Given the description of an element on the screen output the (x, y) to click on. 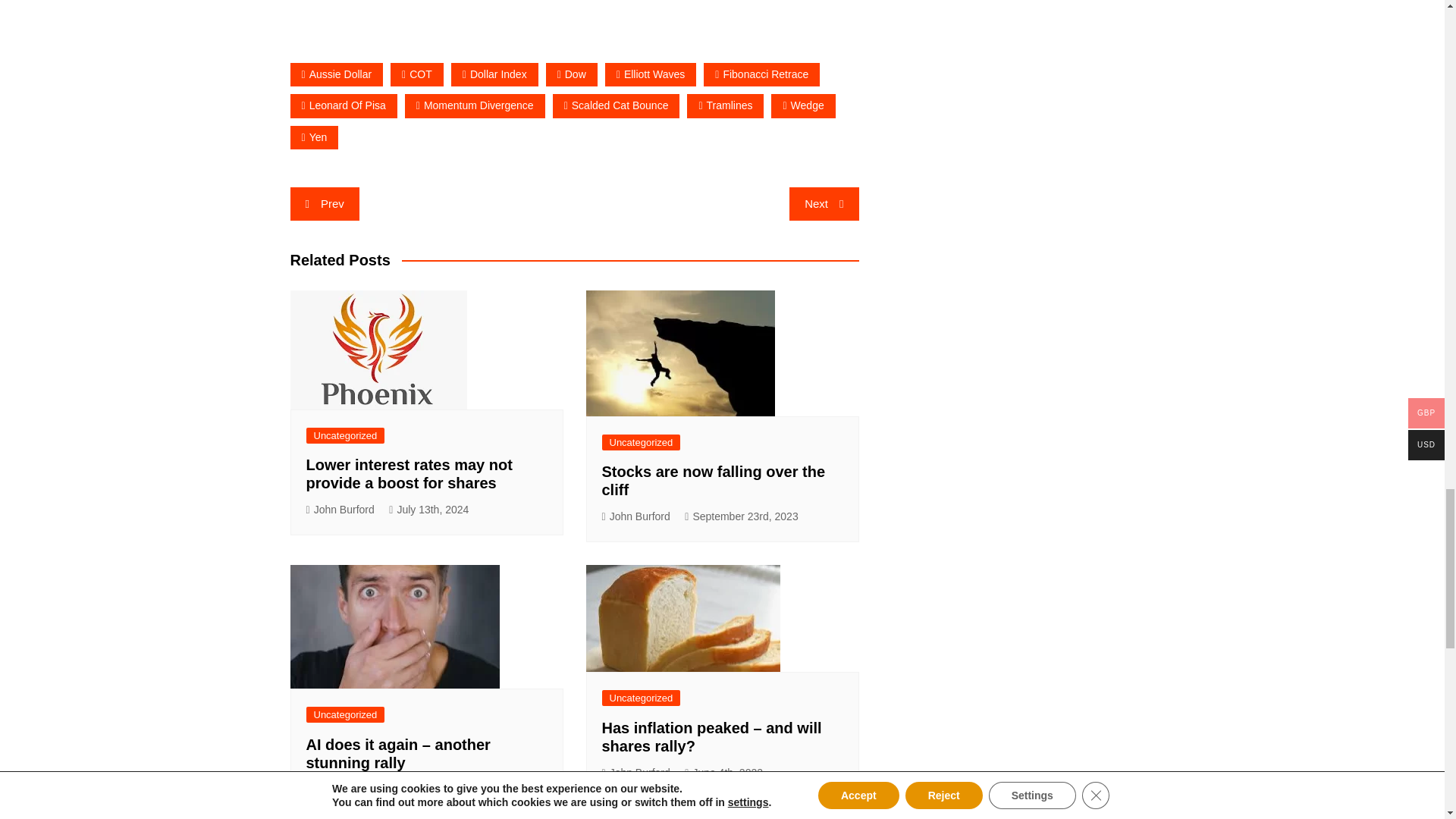
Fibonacci Retrace (761, 74)
COT (417, 74)
Dow (571, 74)
Dollar Index (494, 74)
Elliott Waves (651, 74)
Aussie Dollar (335, 74)
